Given the description of an element on the screen output the (x, y) to click on. 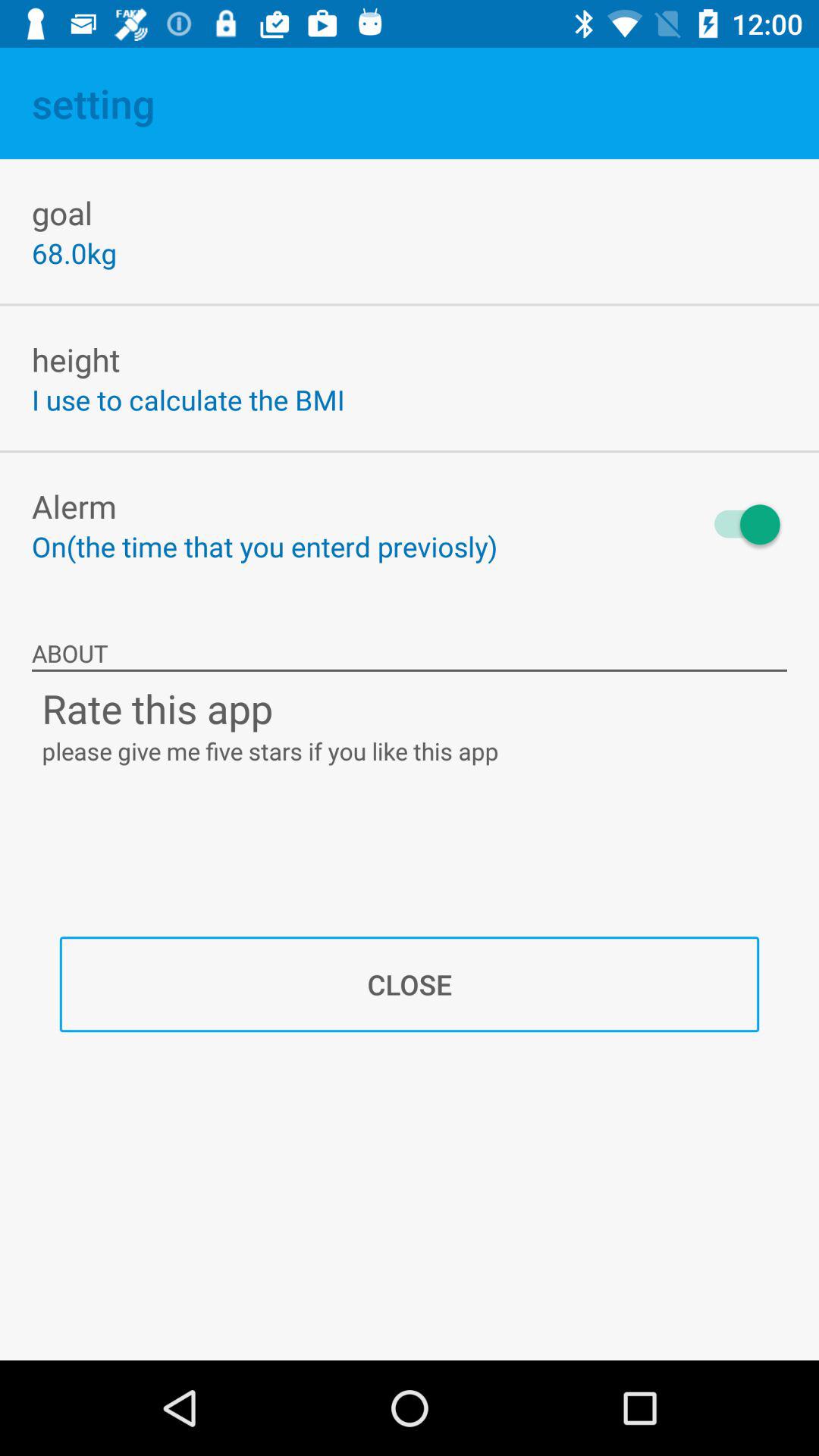
select icon above the i use to item (75, 359)
